Given the description of an element on the screen output the (x, y) to click on. 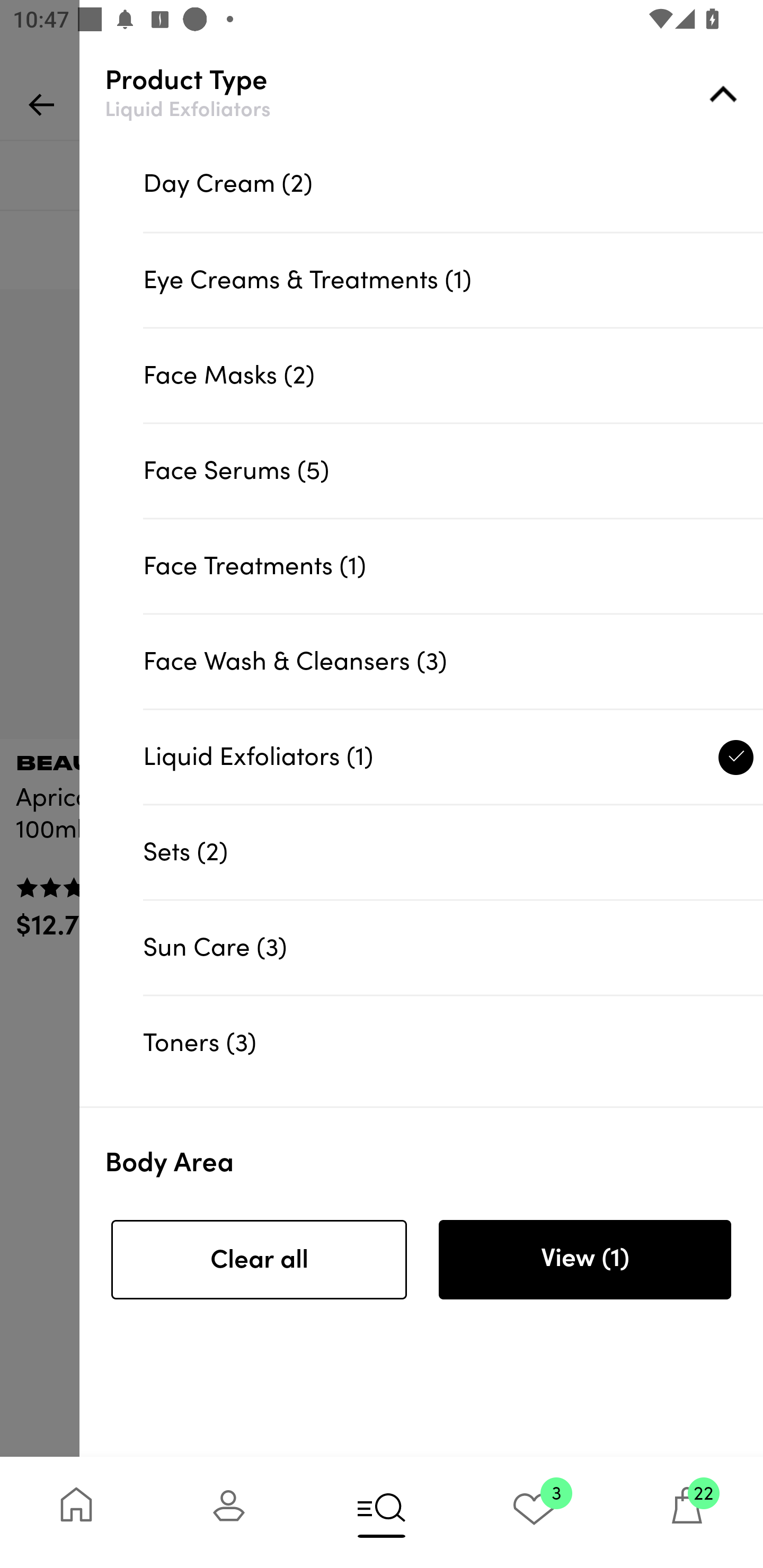
Day Cream (2) (453, 184)
Eye Creams & Treatments (1) (453, 279)
Face Masks (2) (453, 375)
Face Serums (5) (453, 470)
Face Treatments (1) (453, 565)
Face Wash & Cleansers (3) (453, 660)
Liquid Exfoliators (1)  (453, 756)
Sets (2) (453, 852)
Sun Care (3) (453, 947)
Toners (3) (453, 1041)
Body Area (434, 1147)
Clear all (258, 1259)
View (1) (584, 1259)
3 (533, 1512)
22 (686, 1512)
